Given the description of an element on the screen output the (x, y) to click on. 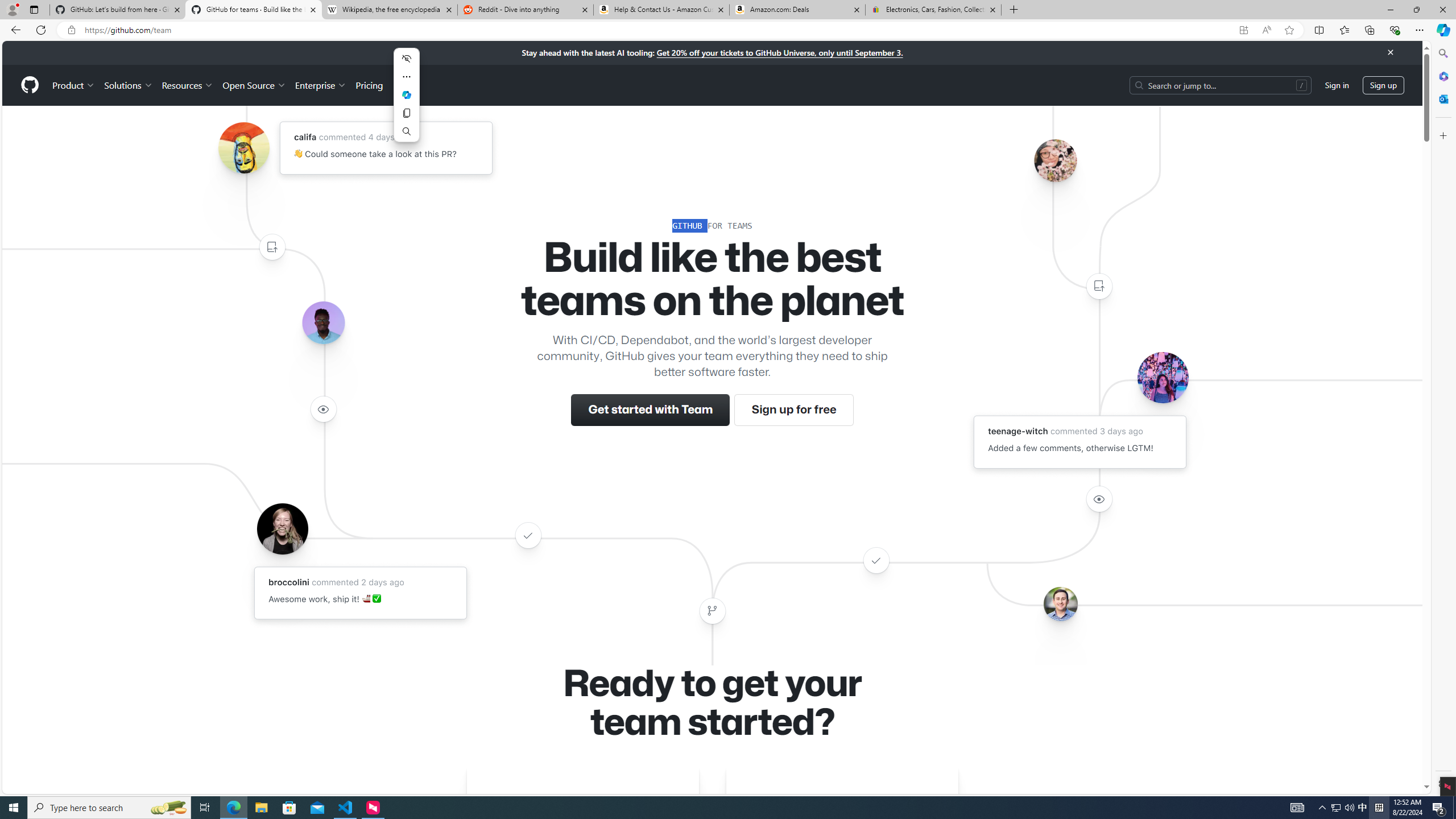
Customize (1442, 135)
Avatar of the user califa (243, 147)
Enterprise (319, 84)
Ask Copilot (406, 94)
Avatar of the user broccolini (282, 528)
Copy (406, 113)
Wikipedia, the free encyclopedia (390, 9)
Avatar of the user ohjoycelau (1054, 159)
Avatar of the user teenage-witch (1162, 376)
Side bar (1443, 418)
